Given the description of an element on the screen output the (x, y) to click on. 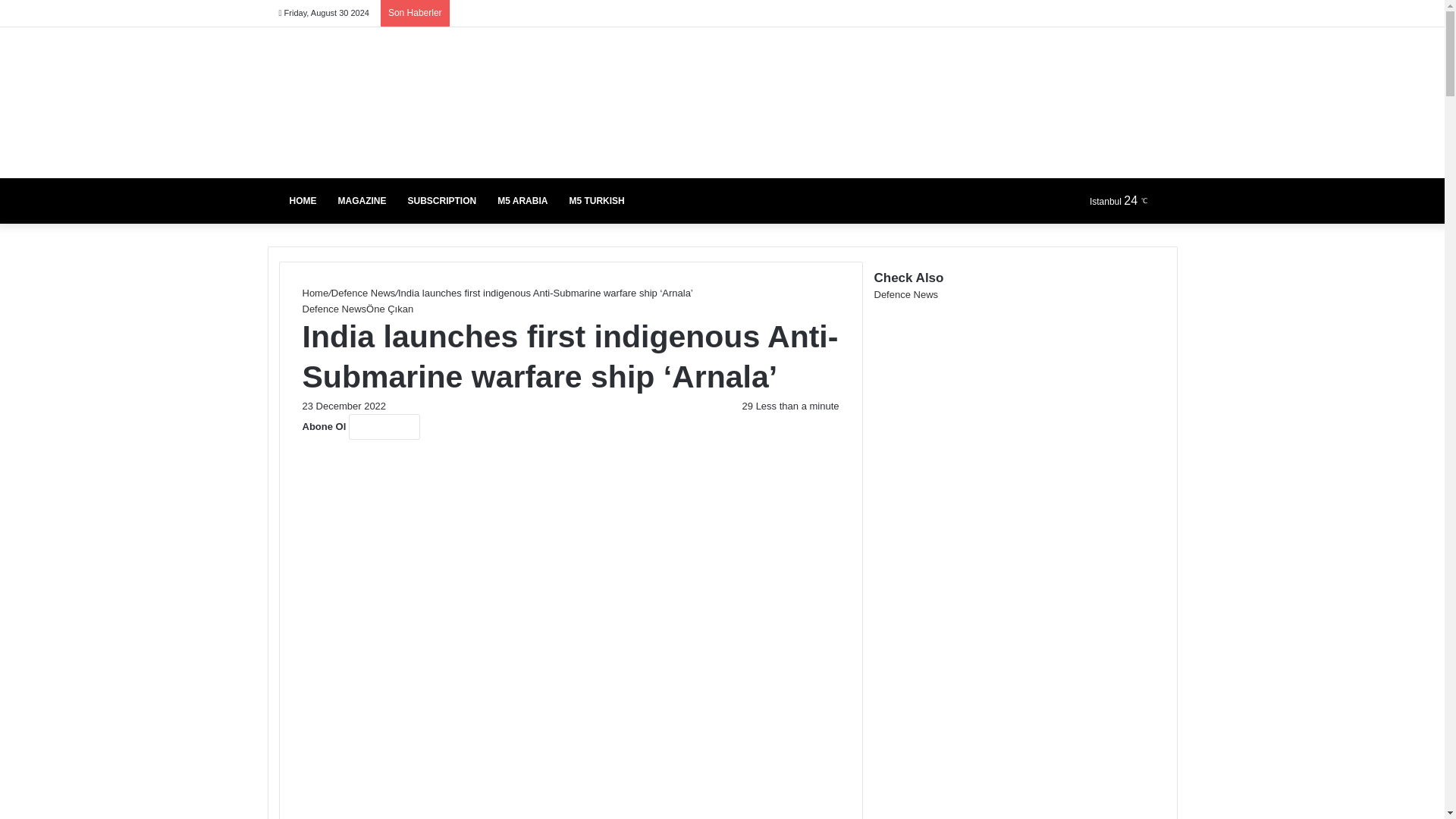
M5 ARABIA (521, 200)
M5 Dergi (381, 102)
Scattered Clouds (1125, 199)
Home (315, 292)
Abone Ol (384, 426)
SUBSCRIPTION (442, 200)
HOME (303, 200)
Defence News (363, 292)
M5 TURKISH (595, 200)
Defence News (333, 308)
